Given the description of an element on the screen output the (x, y) to click on. 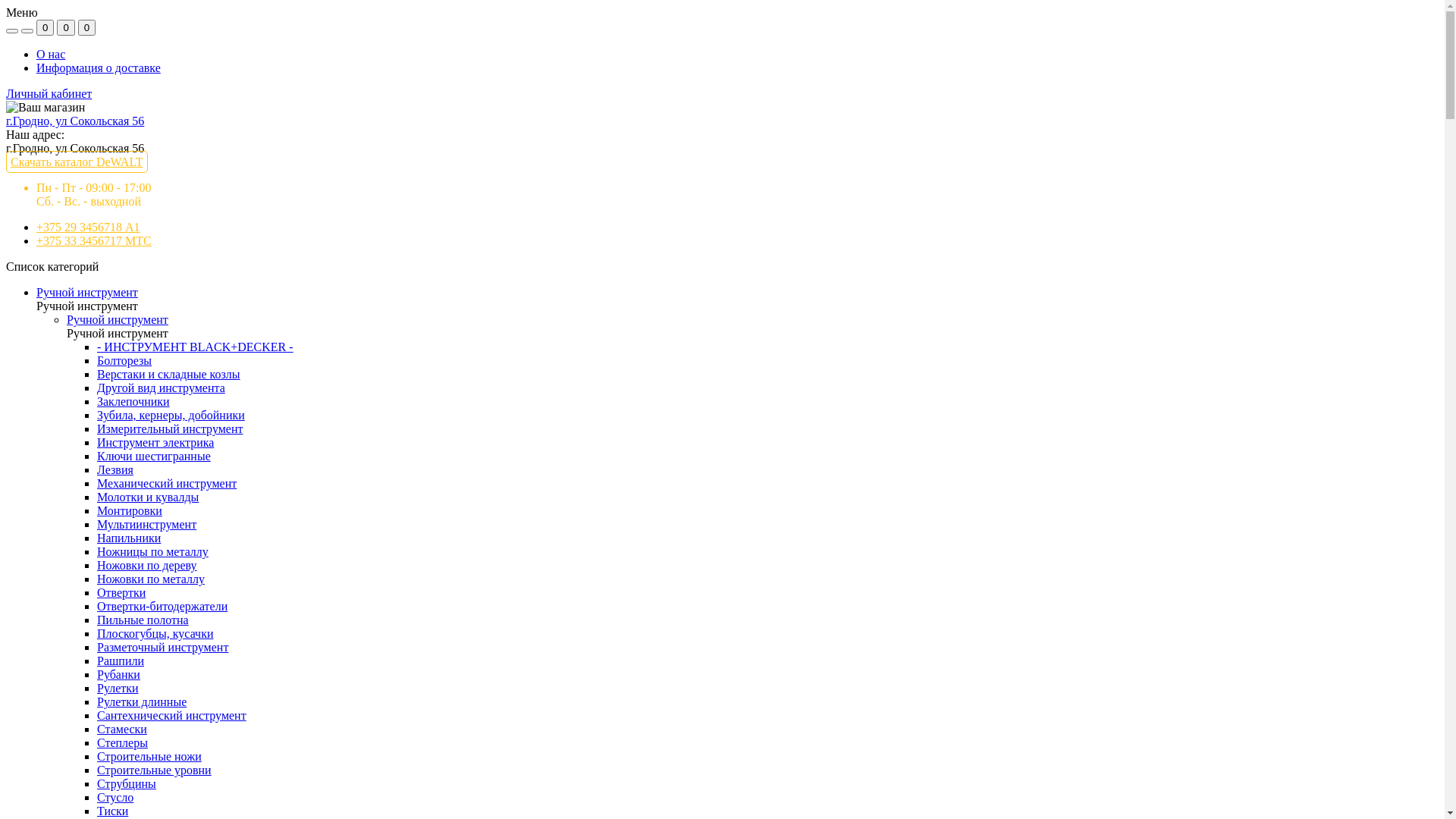
0 Element type: text (86, 27)
0 Element type: text (44, 27)
0 Element type: text (65, 27)
